Given the description of an element on the screen output the (x, y) to click on. 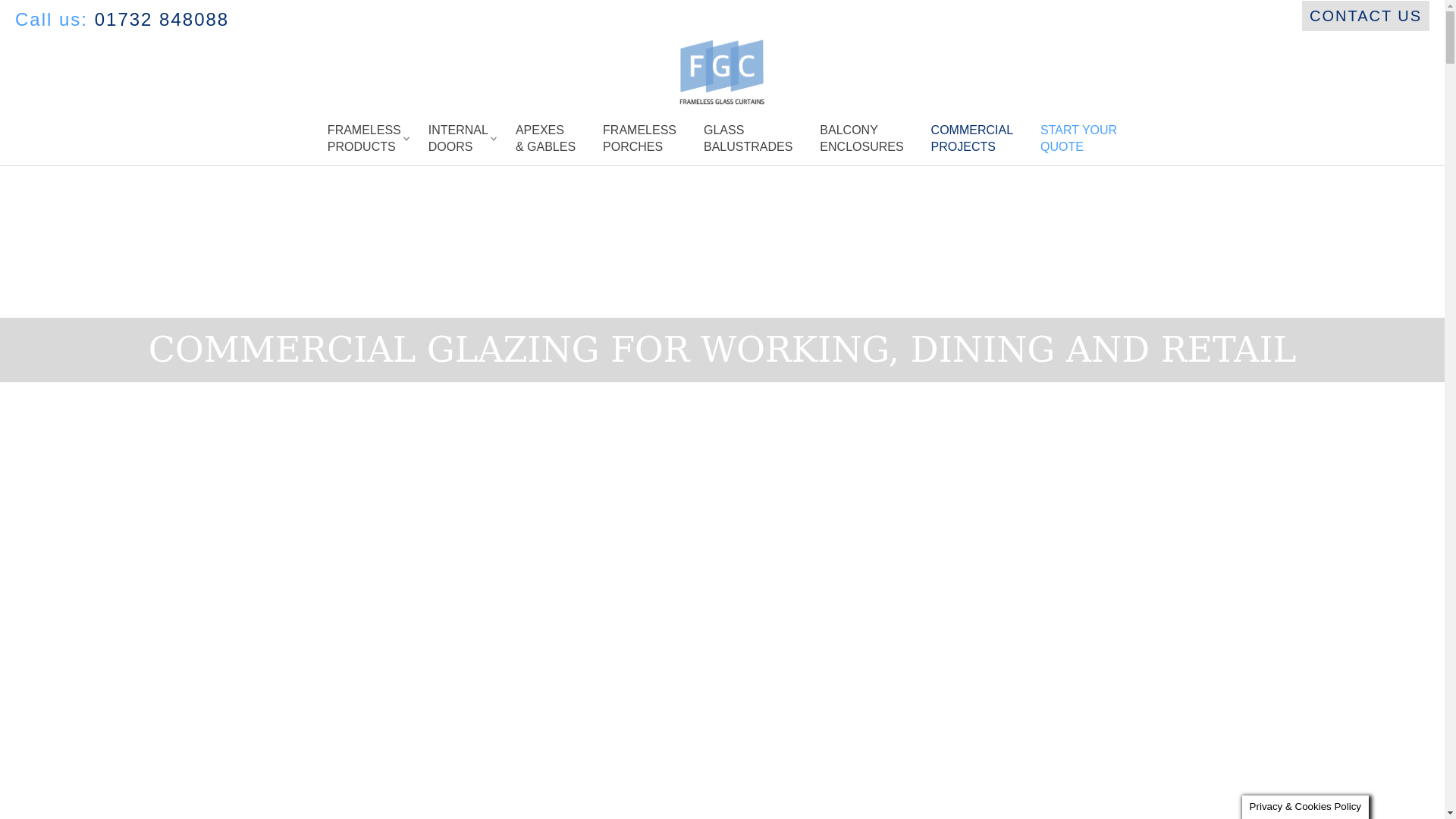
01732 848088 (458, 138)
CONTACT US (861, 138)
